Given the description of an element on the screen output the (x, y) to click on. 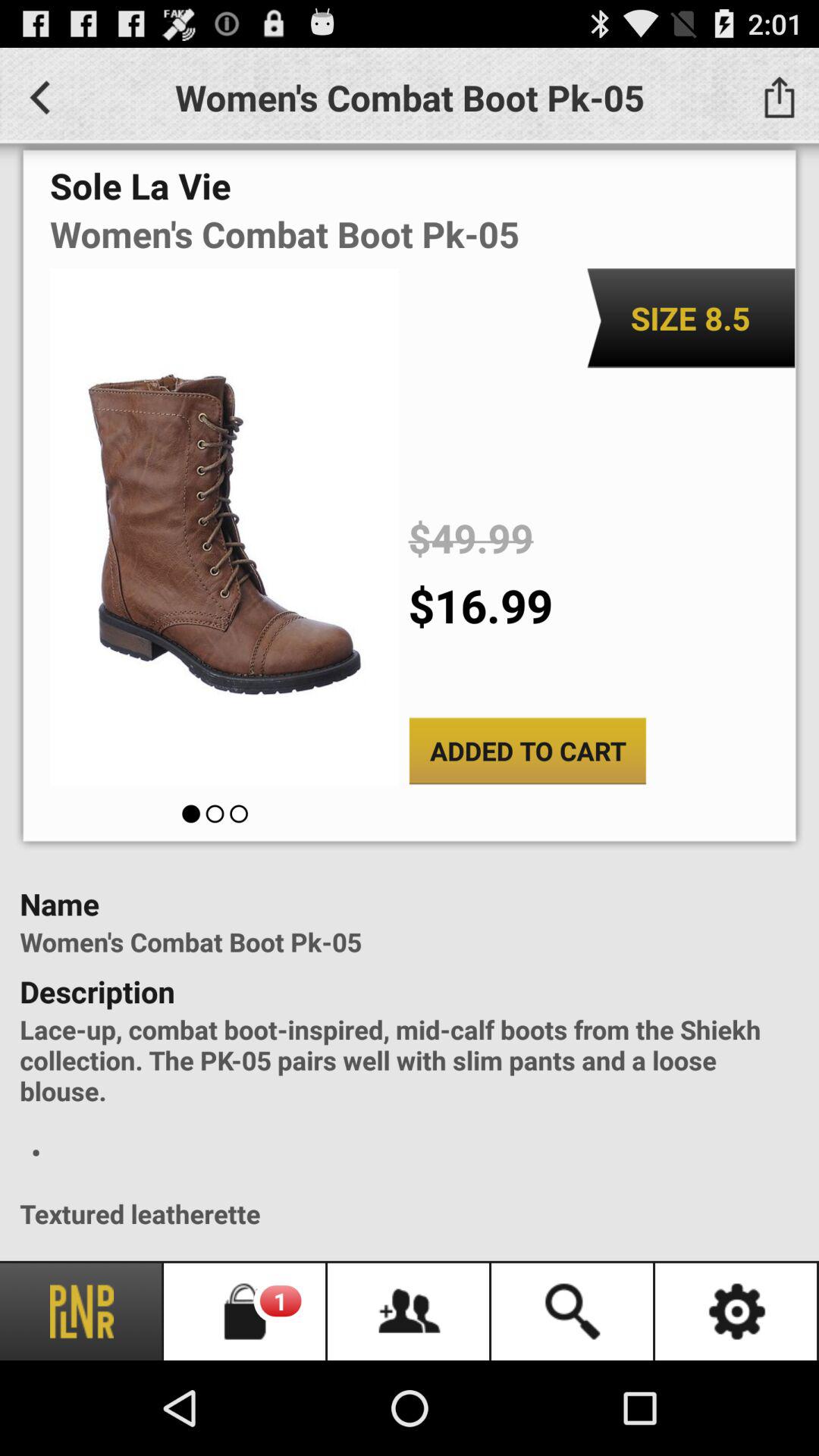
scroll until size 8.5 icon (690, 317)
